Given the description of an element on the screen output the (x, y) to click on. 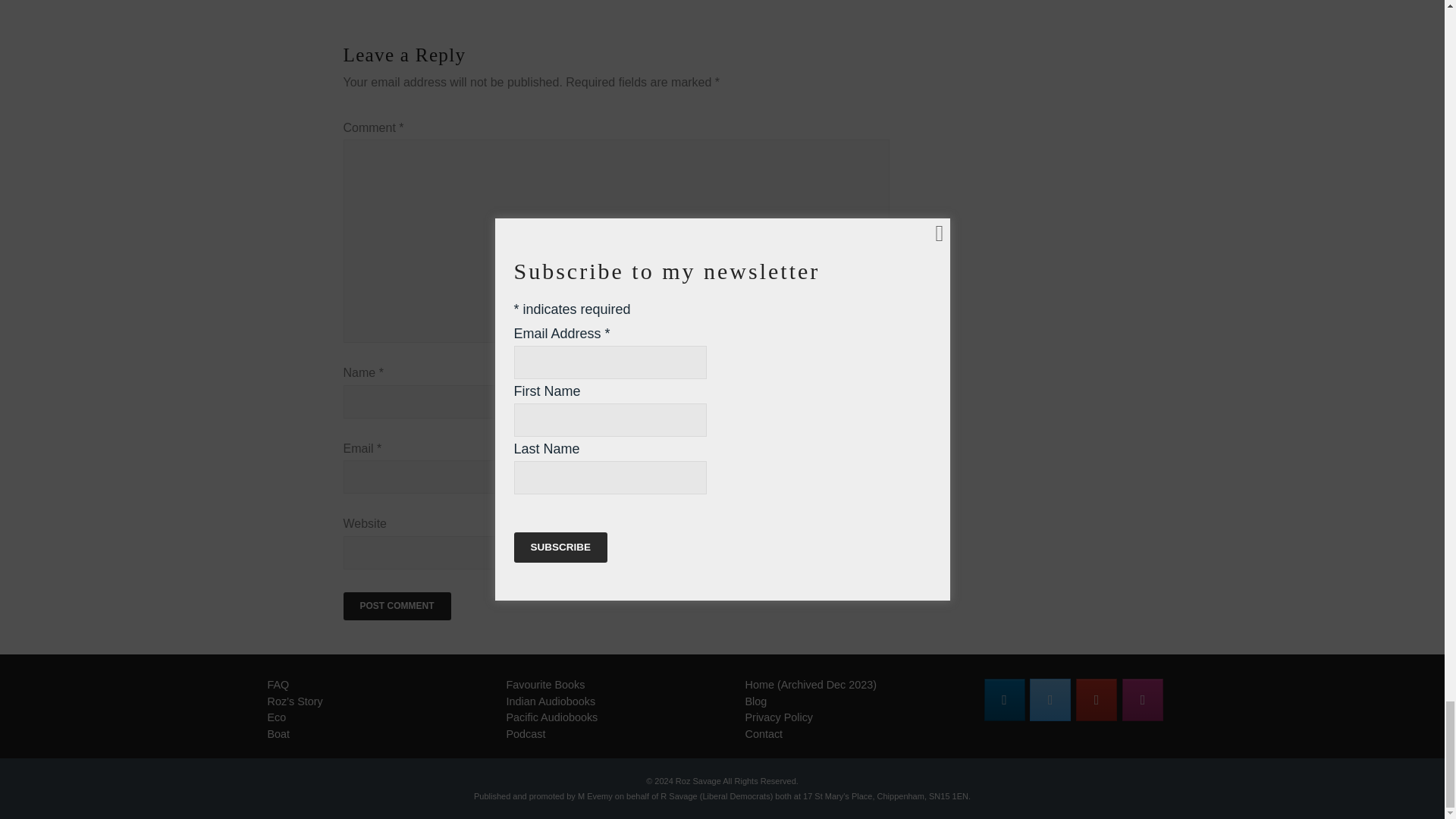
Roz Savage on X Twitter (1049, 699)
Roz Savage on Youtube (1095, 699)
Roz Savage on Linkedin (1004, 699)
Post Comment (395, 606)
Roz Savage on Instagram (1142, 699)
